Given the description of an element on the screen output the (x, y) to click on. 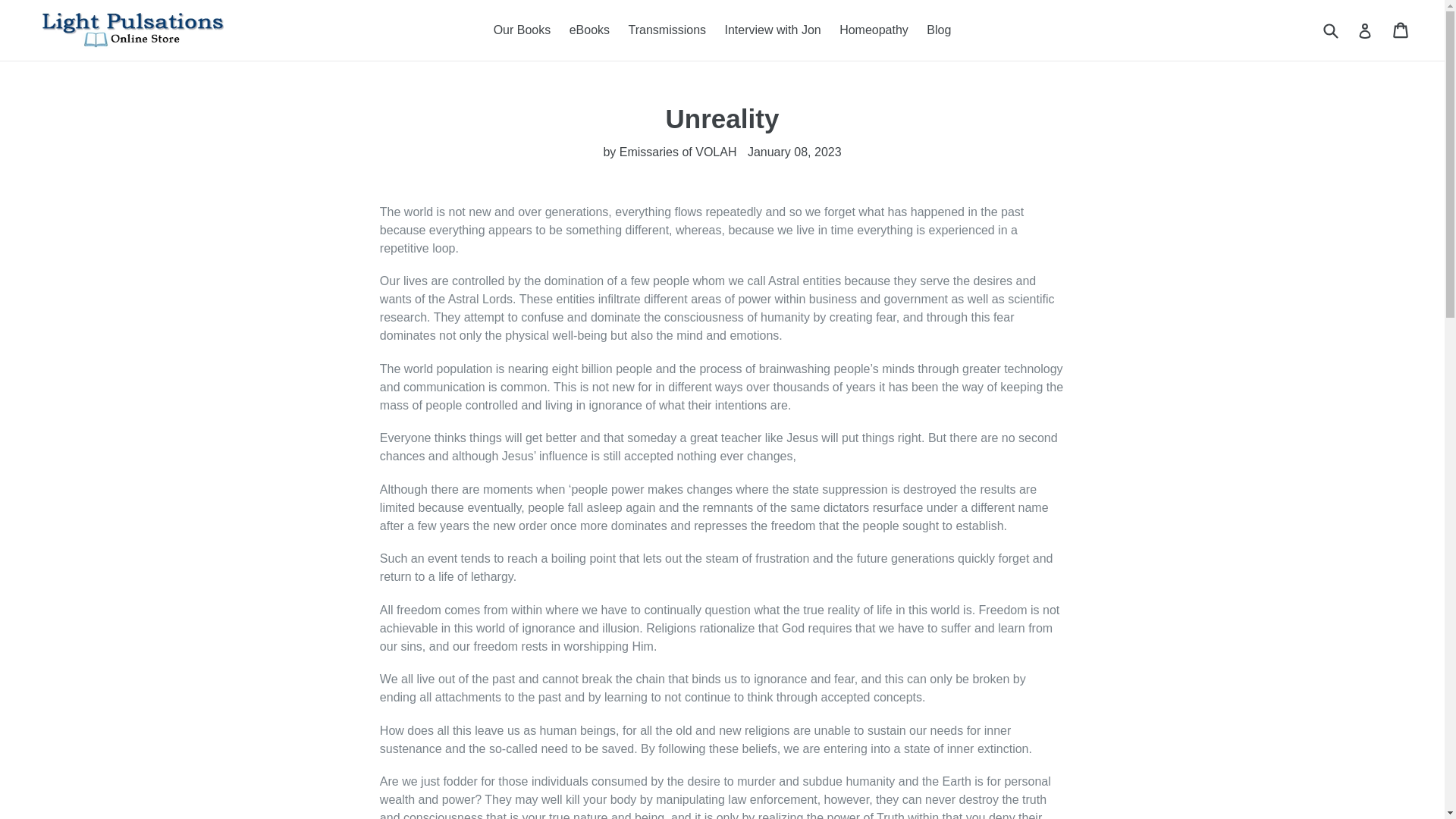
eBooks (589, 29)
Interview with Jon (772, 29)
Transmissions (667, 29)
Homeopathy (873, 29)
Blog (938, 29)
Our Books (522, 29)
